Given the description of an element on the screen output the (x, y) to click on. 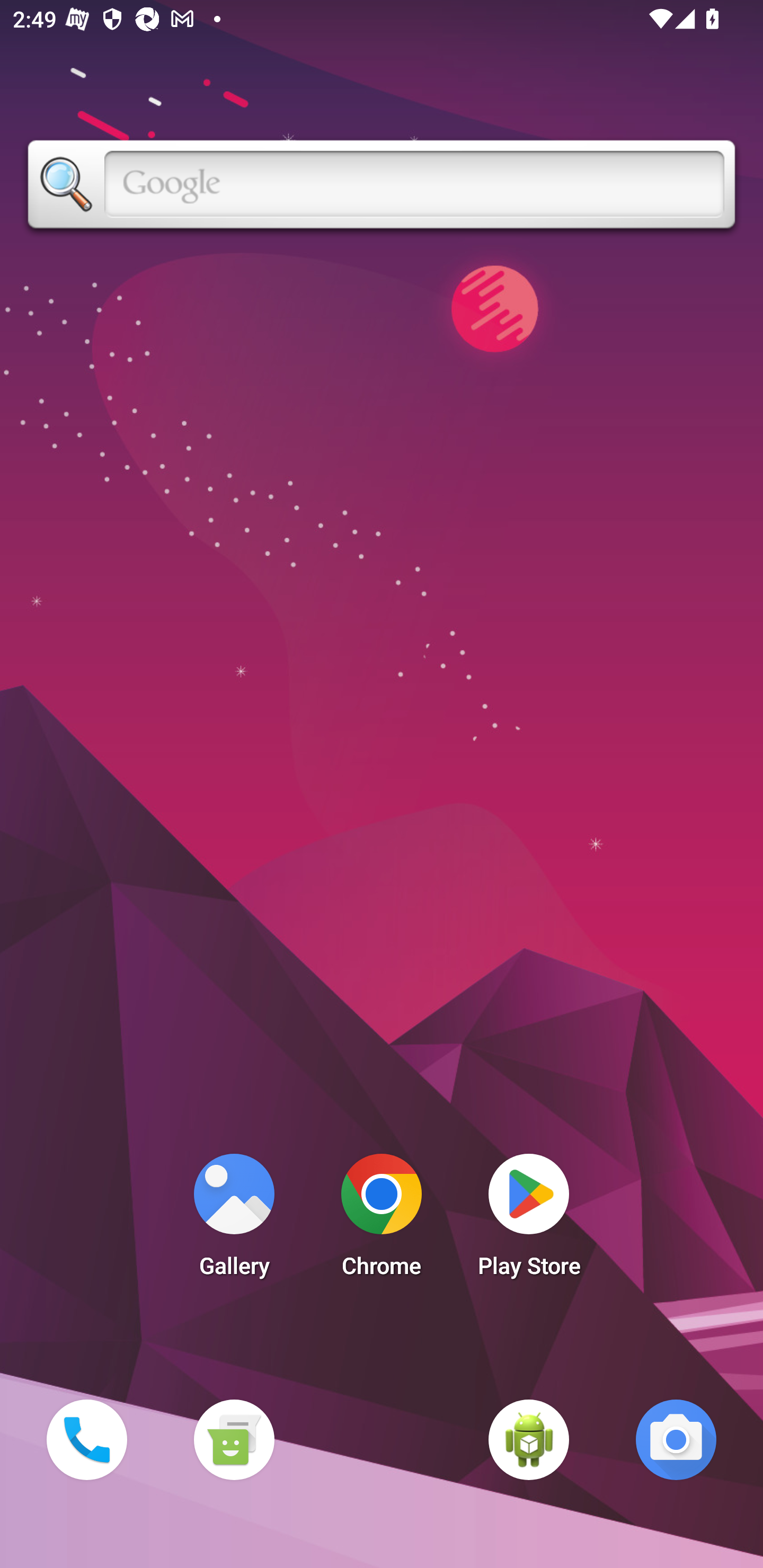
Gallery (233, 1220)
Chrome (381, 1220)
Play Store (528, 1220)
Phone (86, 1439)
Messaging (233, 1439)
WebView Browser Tester (528, 1439)
Camera (676, 1439)
